Given the description of an element on the screen output the (x, y) to click on. 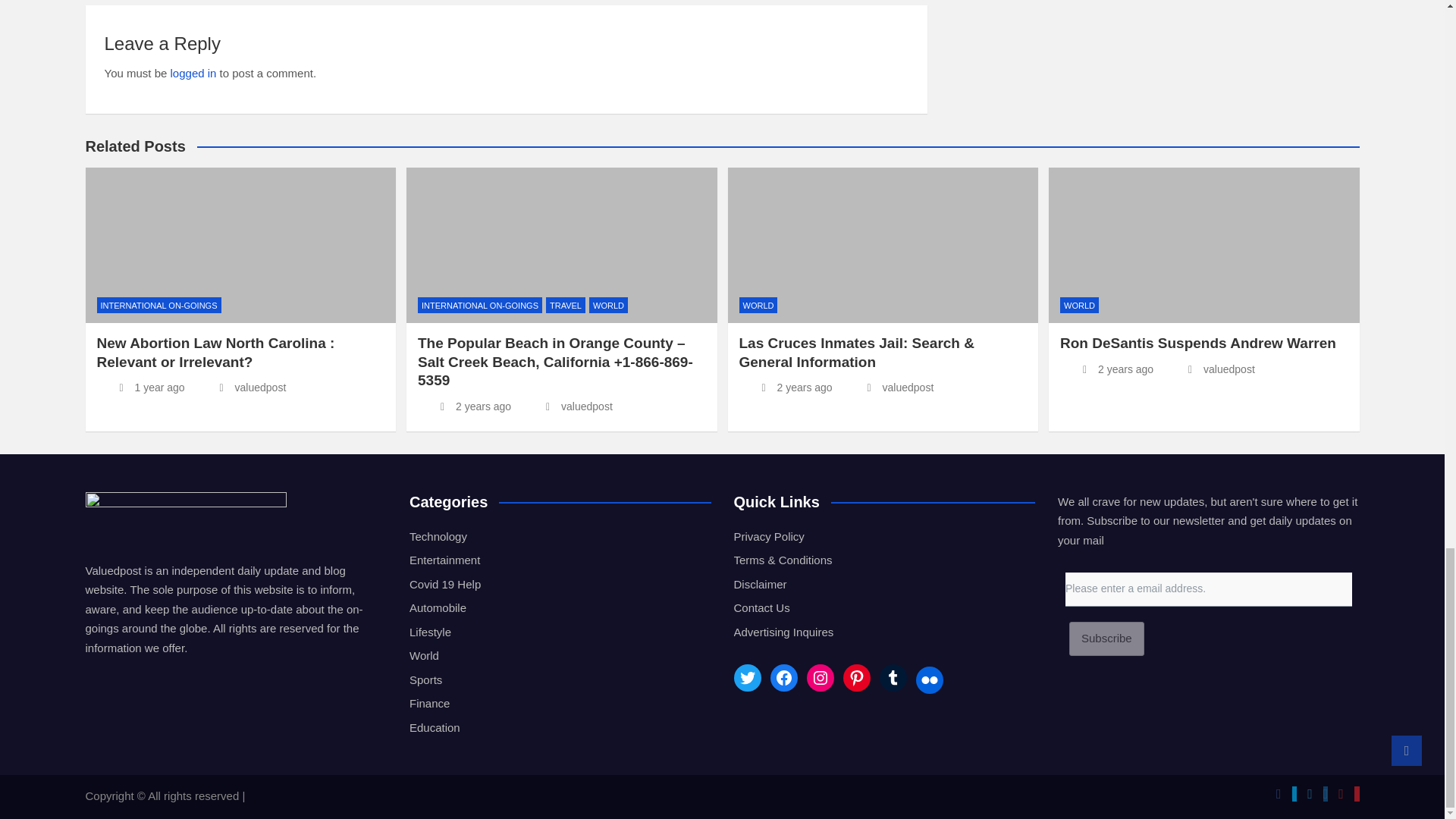
logged in (193, 72)
Ron DeSantis Suspends Andrew Warren (1106, 368)
New Abortion Law North Carolina : Relevant or Irrelevant? (140, 387)
